Given the description of an element on the screen output the (x, y) to click on. 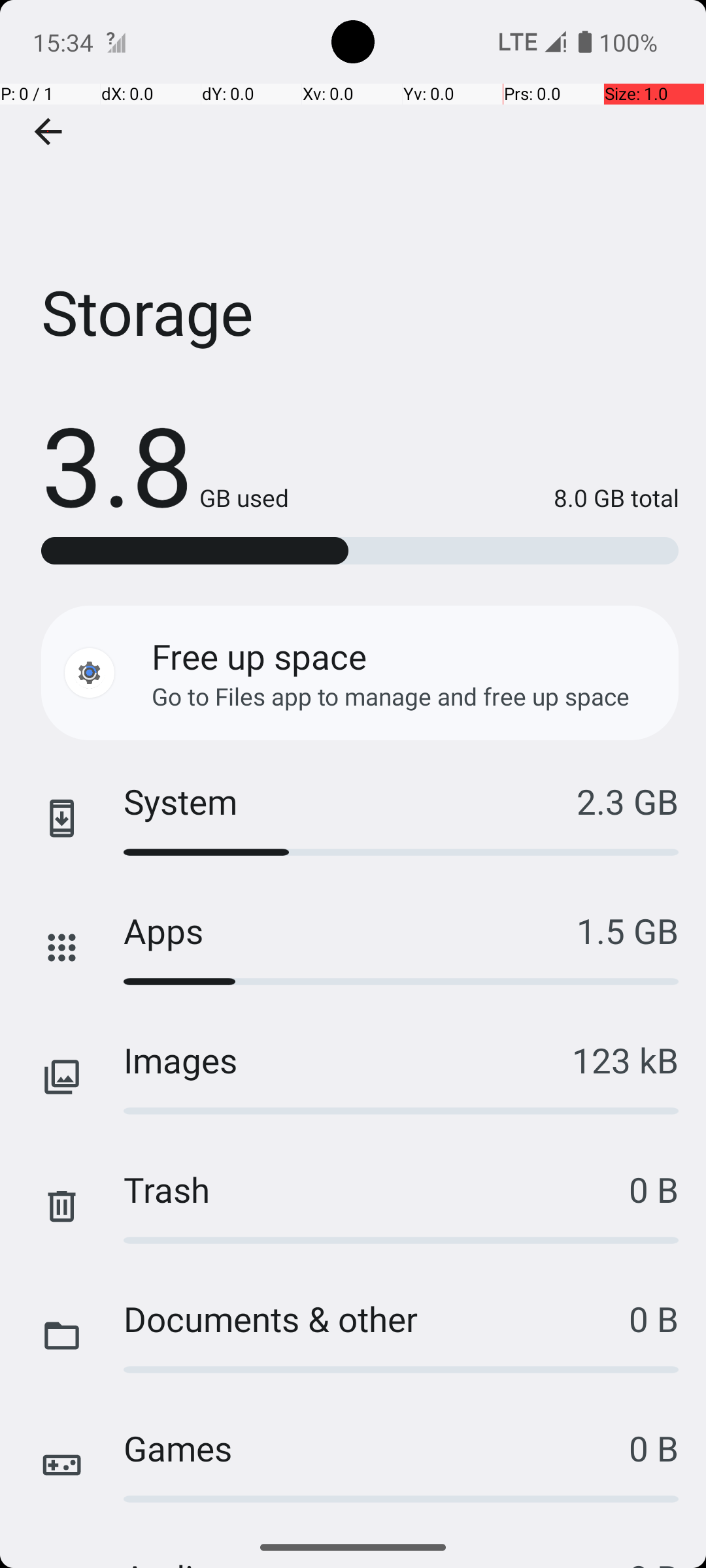
3.8 GB used Element type: android.widget.TextView (164, 463)
1.5 GB Element type: android.widget.TextView (627, 930)
123 kB Element type: android.widget.TextView (624, 1059)
